Given the description of an element on the screen output the (x, y) to click on. 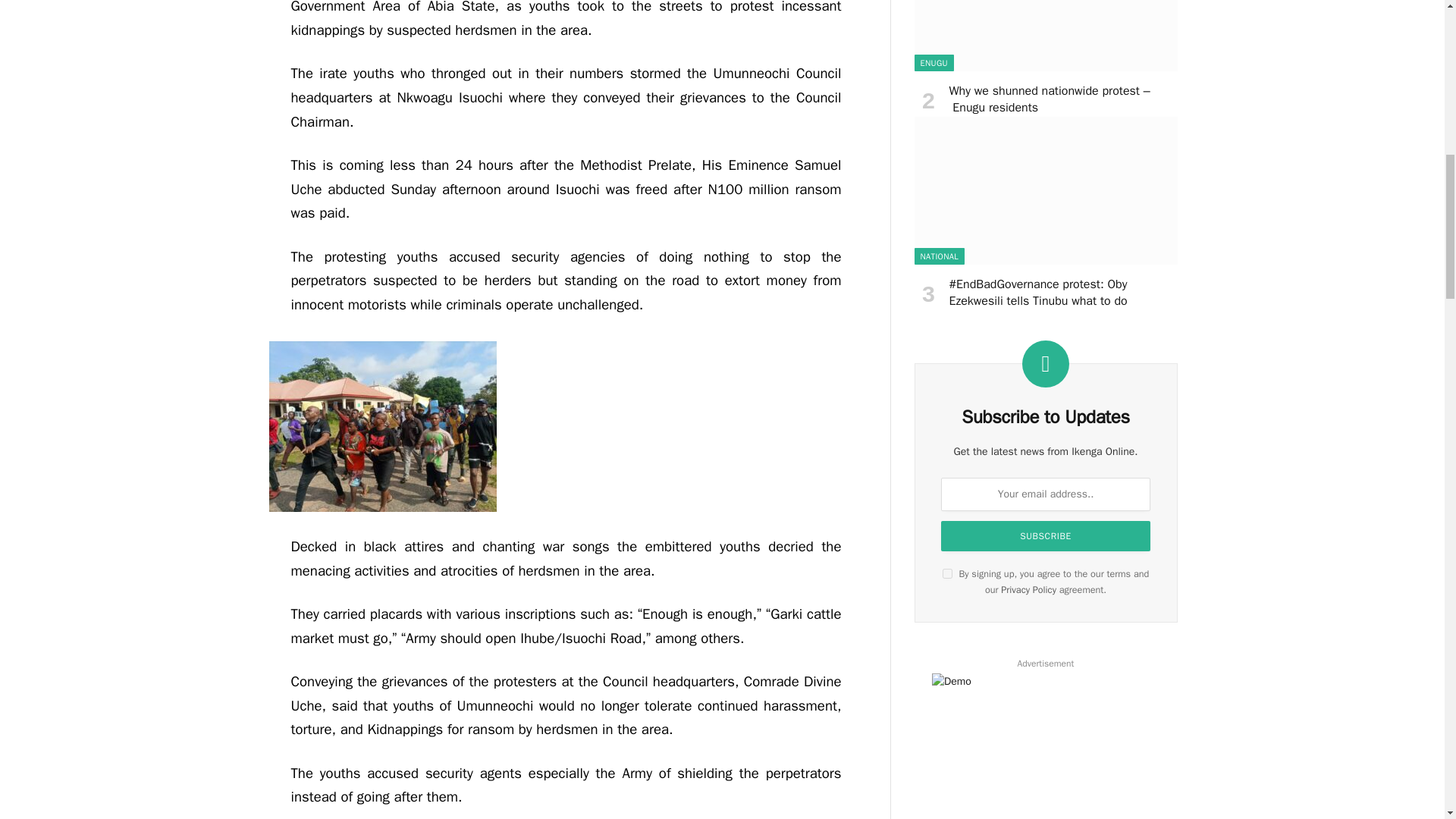
on (947, 573)
Subscribe (1045, 535)
